Given the description of an element on the screen output the (x, y) to click on. 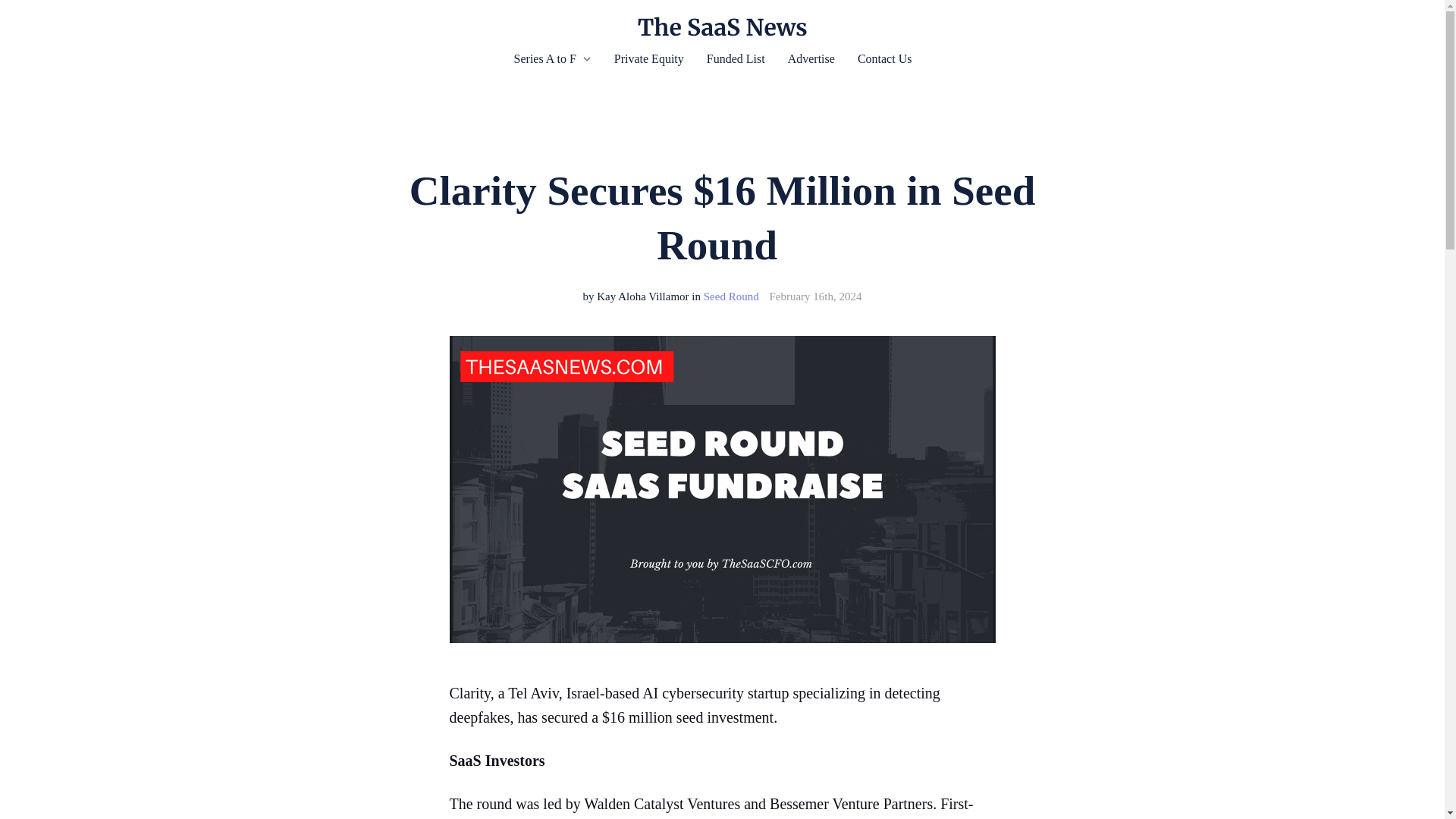
Advertise (810, 58)
Contact Us (884, 58)
Series A to F (544, 58)
Seed Round (730, 296)
Funded List (735, 58)
Private Equity (649, 58)
